Given the description of an element on the screen output the (x, y) to click on. 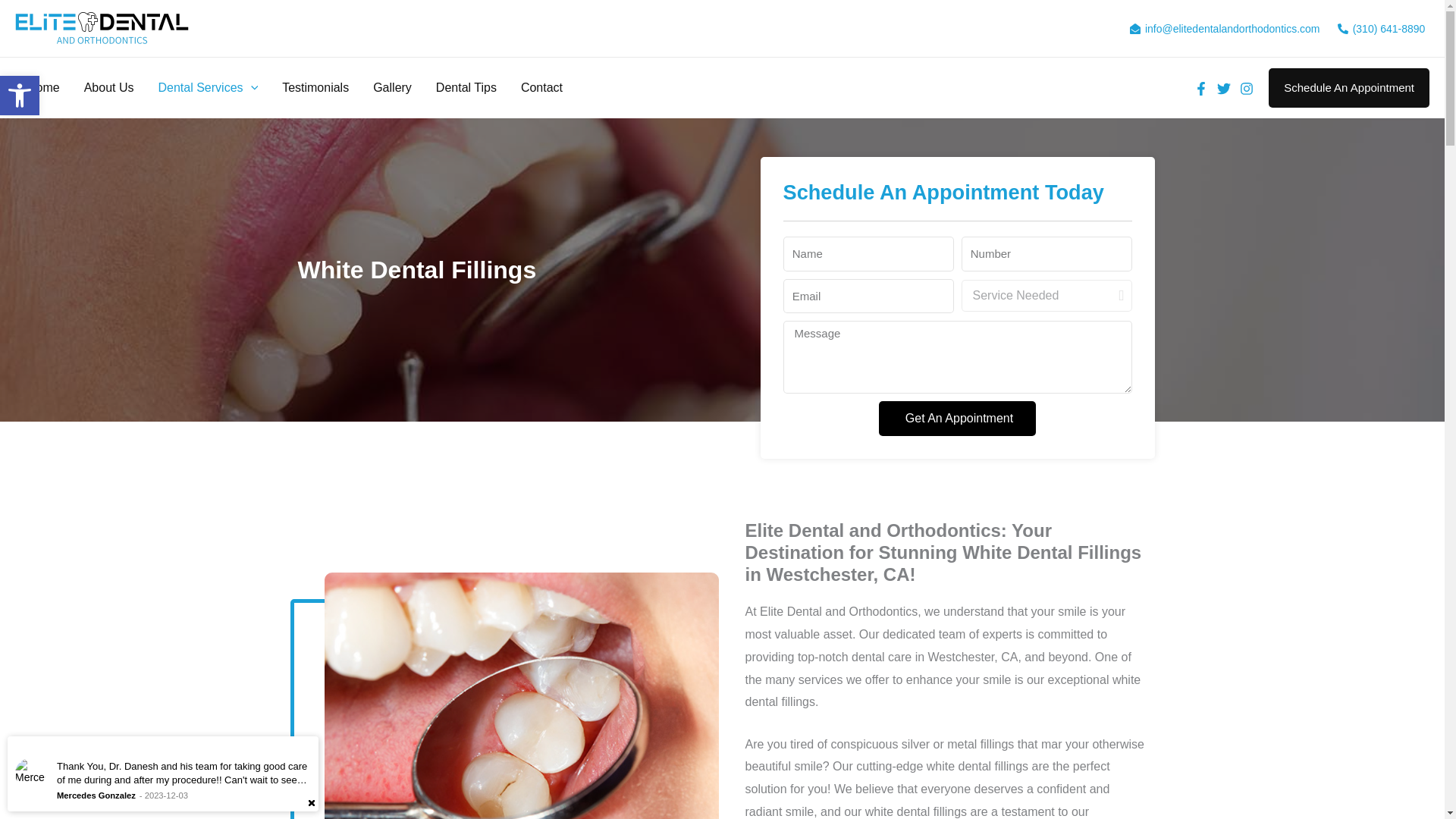
Accessibility Tools (19, 95)
Schedule An Appointment (1348, 87)
Gallery (392, 87)
Home (42, 87)
About Us (109, 87)
Dental Services (19, 95)
Contact (207, 87)
Dental Tips (541, 87)
Testimonials (465, 87)
Accessibility Tools (315, 87)
